Given the description of an element on the screen output the (x, y) to click on. 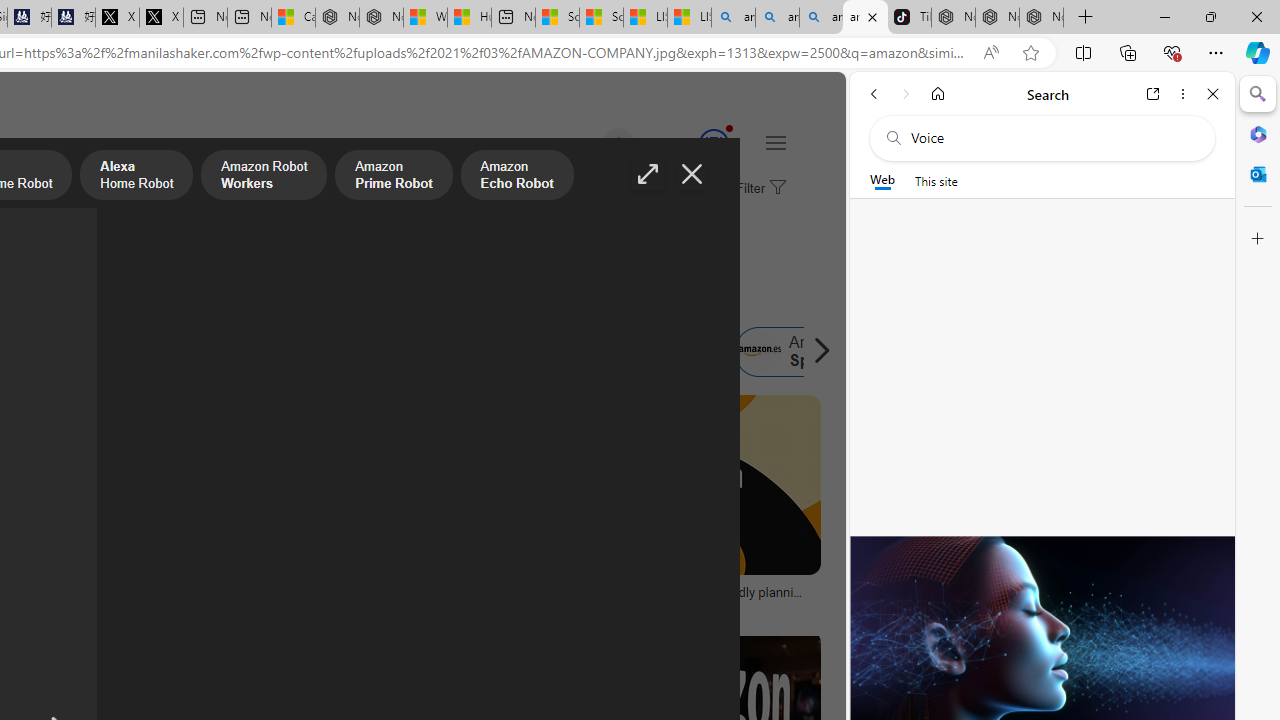
Outlook (1258, 174)
Filter (758, 189)
Microsoft 365 (1258, 133)
Amazon Logo (PNG e SVG) Download Vetorial Transparente (98, 598)
Amazon Spain (800, 351)
Settings and quick links (775, 142)
Amazon Forest (517, 351)
Alexa Home Robot (136, 177)
Amazon Echo Robot (516, 177)
